Given the description of an element on the screen output the (x, y) to click on. 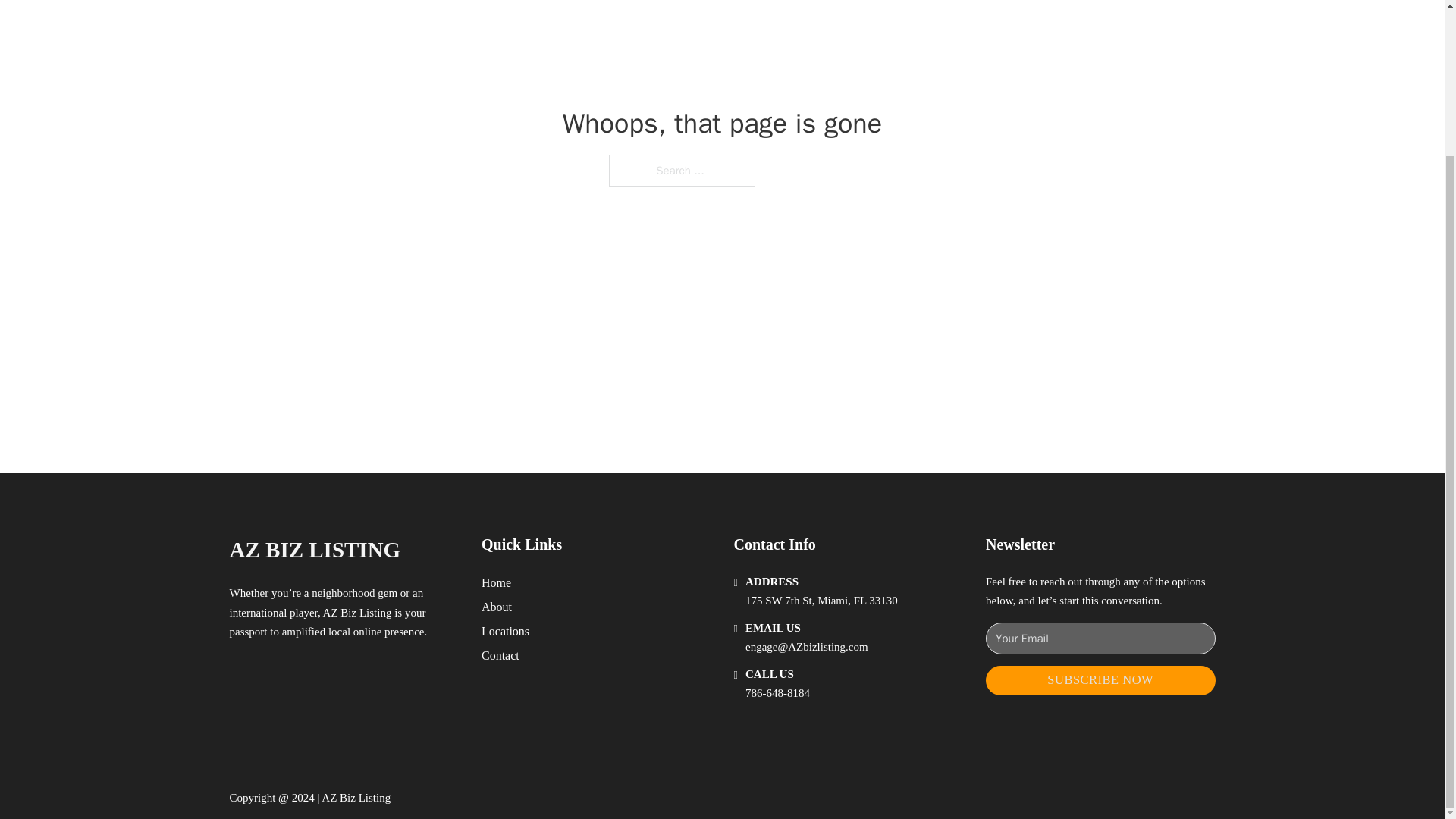
Locations (505, 630)
786-648-8184 (777, 693)
SUBSCRIBE NOW (1100, 680)
AZ BIZ LISTING (314, 549)
Contact (500, 655)
About (496, 607)
Home (496, 582)
